Given the description of an element on the screen output the (x, y) to click on. 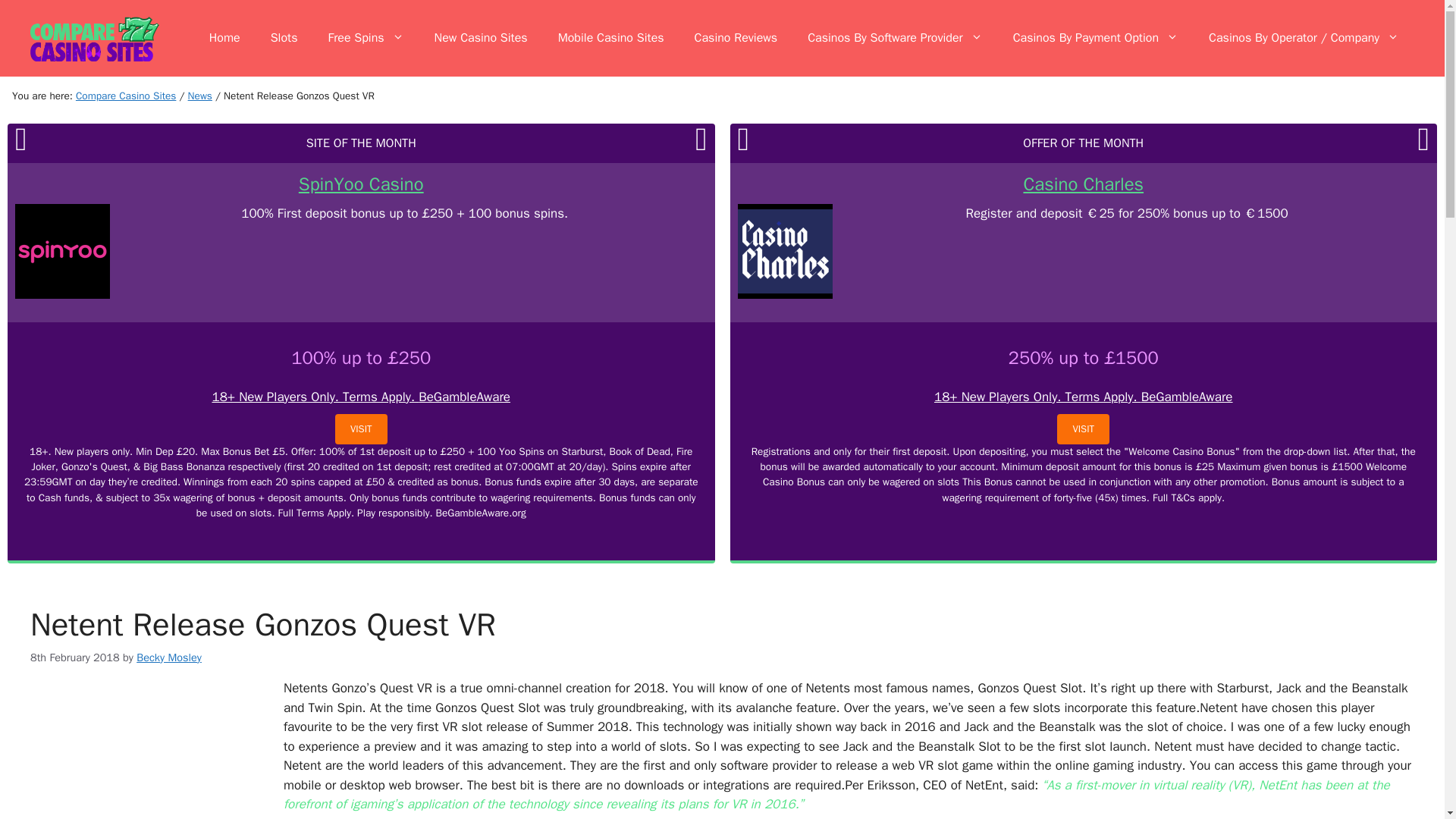
Free Spins (366, 37)
View all posts by Becky Mosley (169, 657)
Casinos By Software Provider (894, 37)
Item (199, 95)
Home (224, 37)
Mobile Casino Sites (611, 37)
Casinos By Payment Option (1095, 37)
Slots (284, 37)
Casino Reviews (736, 37)
New Casino Sites (481, 37)
News (199, 95)
Compare Casino Sites (125, 95)
